Given the description of an element on the screen output the (x, y) to click on. 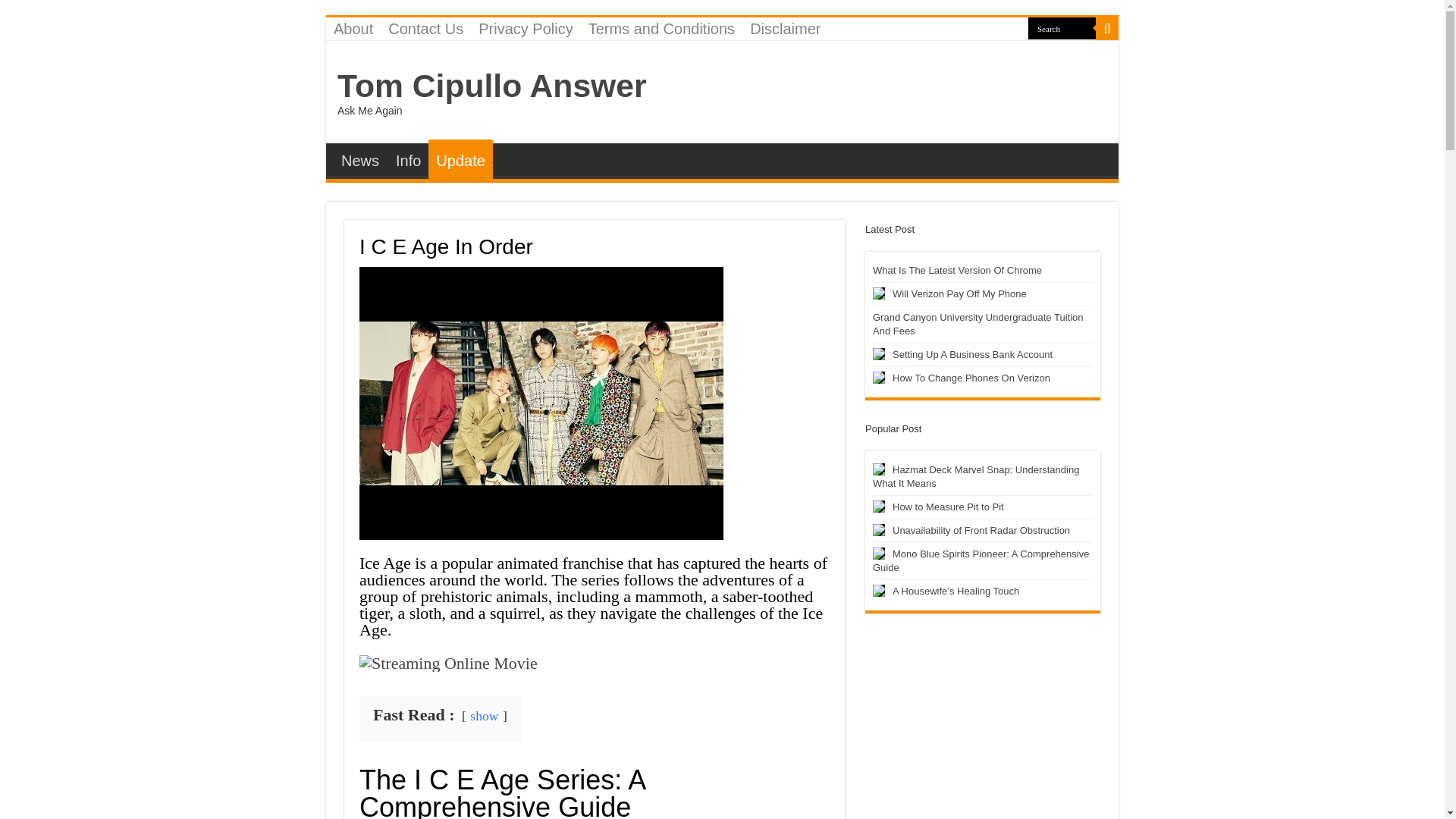
How to Measure Pit to Pit (878, 506)
Search (1061, 28)
Hazmat Deck Marvel Snap: Understanding What It Means (878, 469)
Disclaimer (785, 28)
Terms and Conditions (661, 28)
Search (1061, 28)
Search (1061, 28)
Tom Cipullo Answer (491, 85)
Privacy Policy (524, 28)
Search (1107, 28)
